Given the description of an element on the screen output the (x, y) to click on. 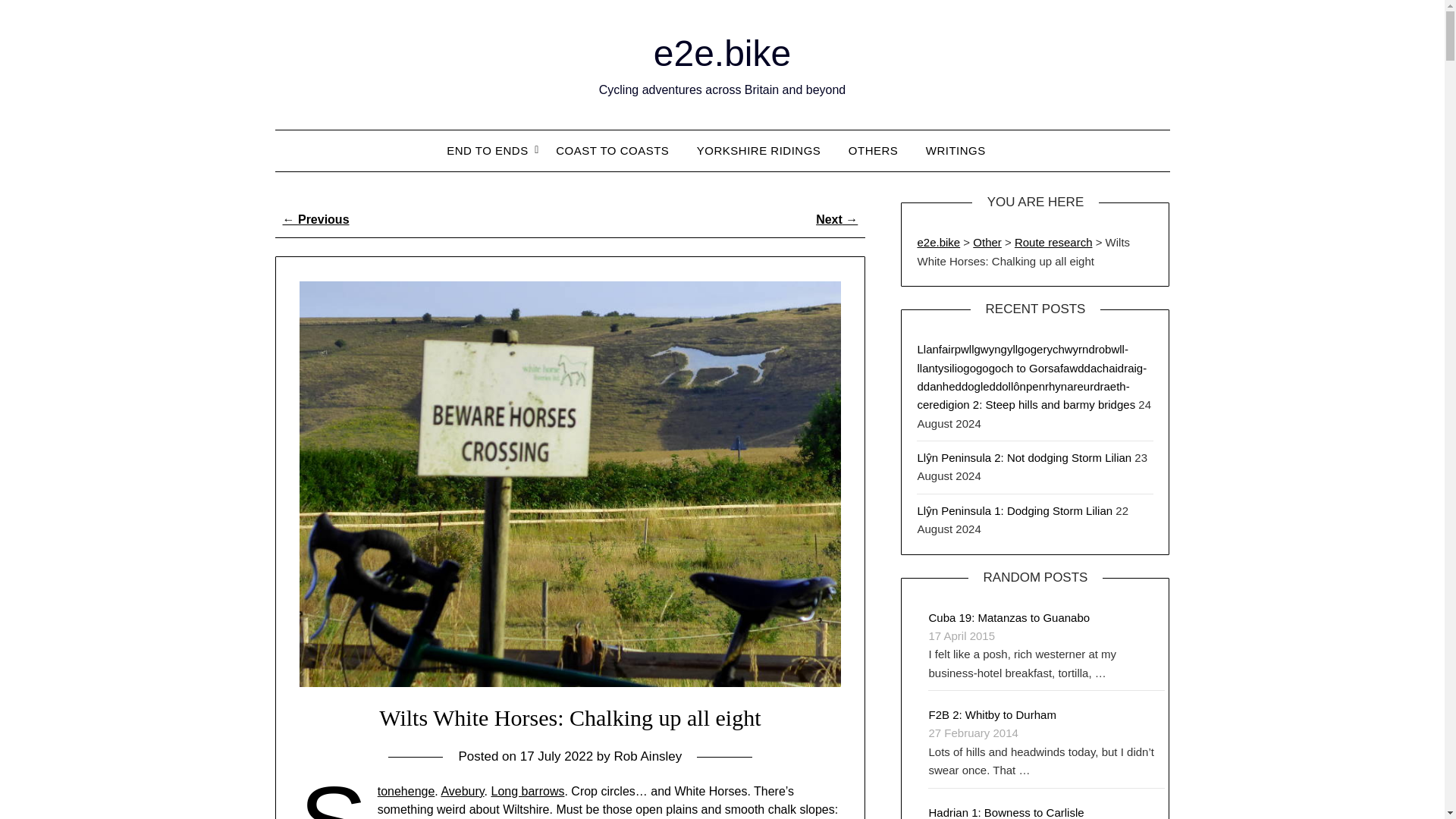
OTHERS (873, 150)
e2e.bike (721, 53)
Go to the Route research category archives. (1053, 241)
COAST TO COASTS (612, 150)
Go to the Other category archives. (986, 241)
END TO ENDS (493, 150)
Long barrows (527, 790)
tonehenge (406, 790)
Avebury (462, 790)
17 July 2022 (555, 756)
